Given the description of an element on the screen output the (x, y) to click on. 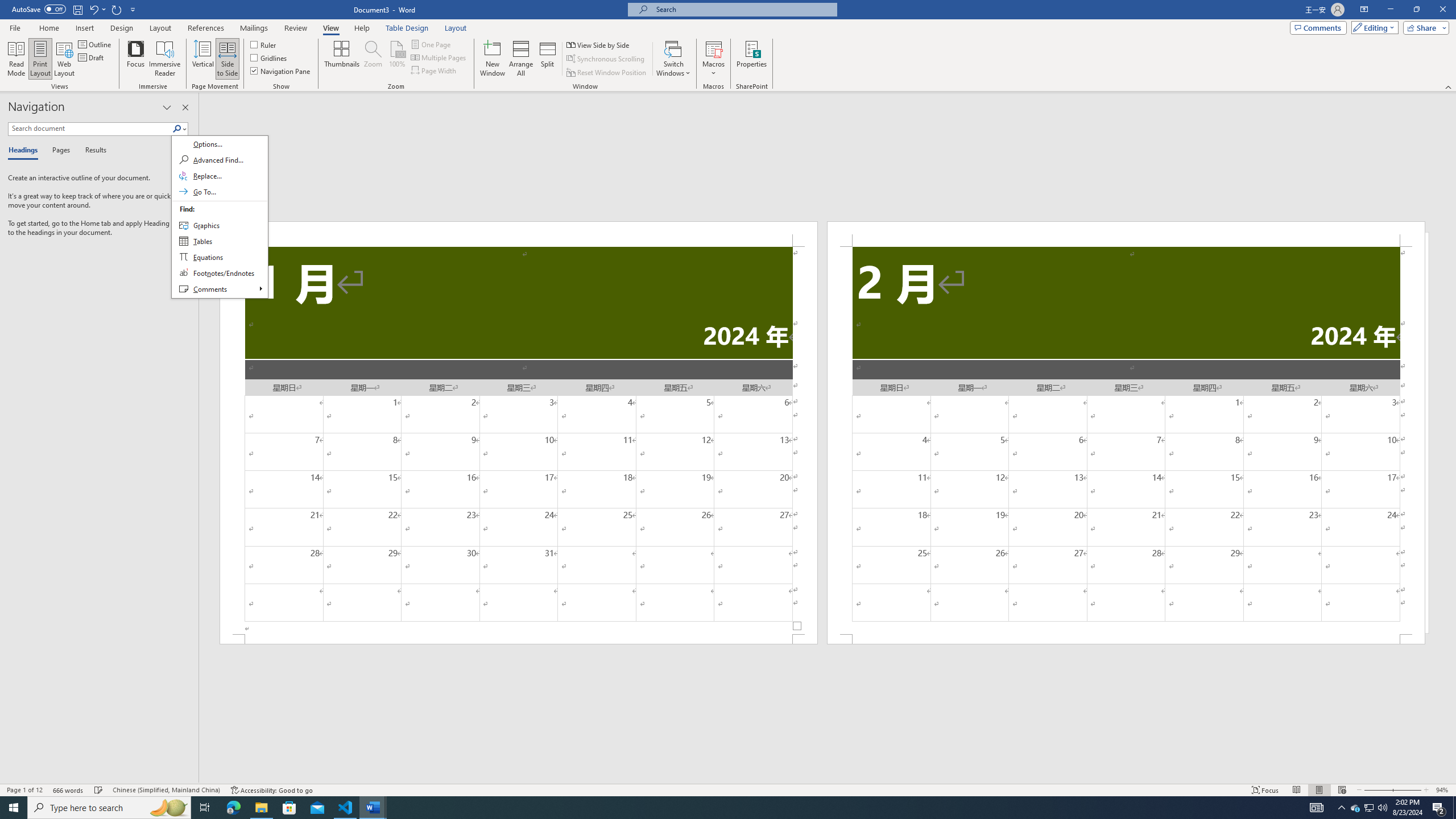
Headings (25, 150)
Search (219, 216)
Share (1423, 27)
Close (1442, 9)
Repeat Doc Close (117, 9)
Ribbon Display Options (1364, 9)
File Tab (15, 27)
Accessibility Checker Accessibility: Good to go (271, 790)
Running applications (717, 807)
Page Number Page 1 of 12 (24, 790)
Layout (455, 28)
Split (547, 58)
Results (91, 150)
Web Layout (1342, 790)
